Given the description of an element on the screen output the (x, y) to click on. 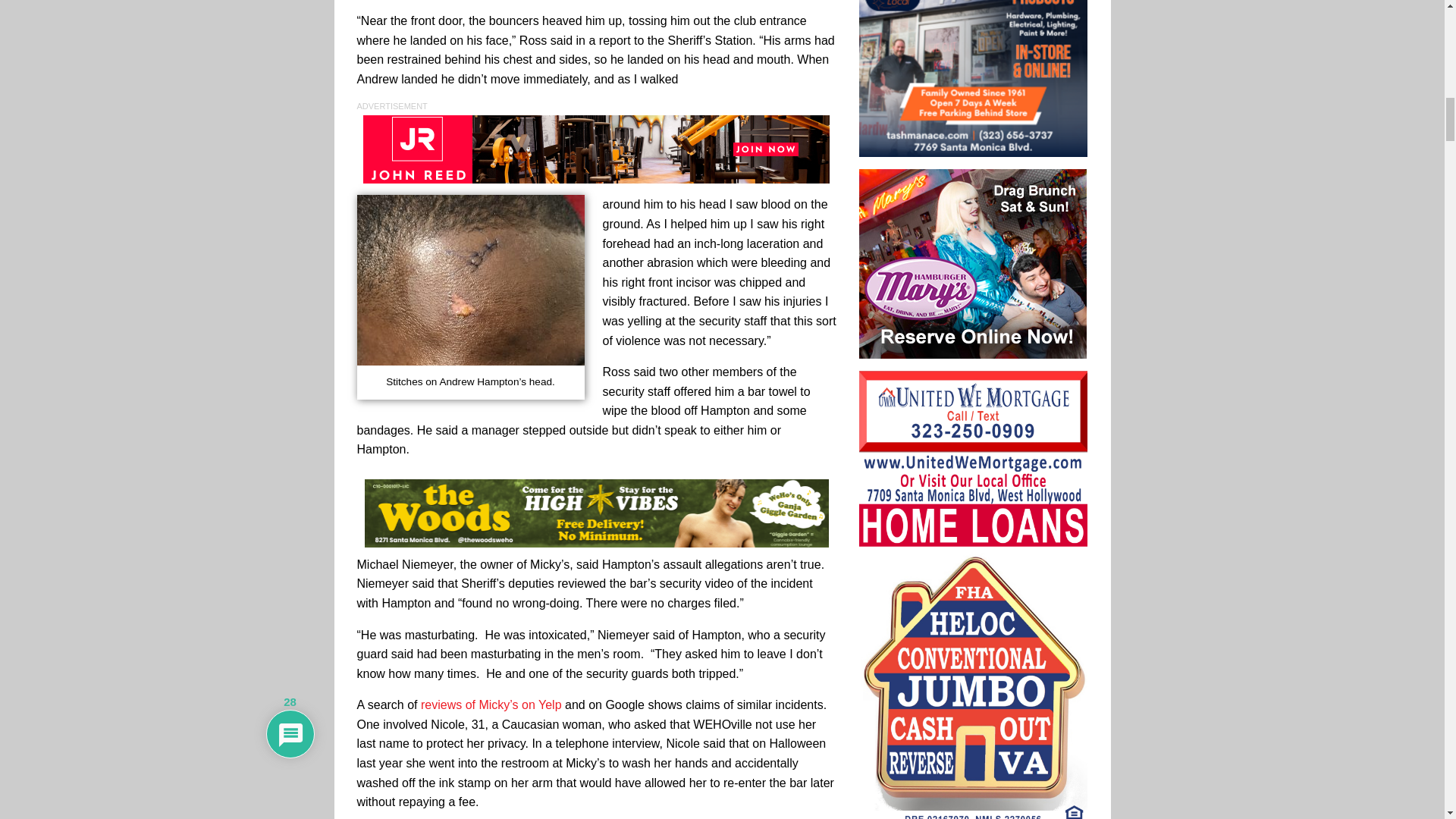
The Woods In-Story (596, 513)
